Given the description of an element on the screen output the (x, y) to click on. 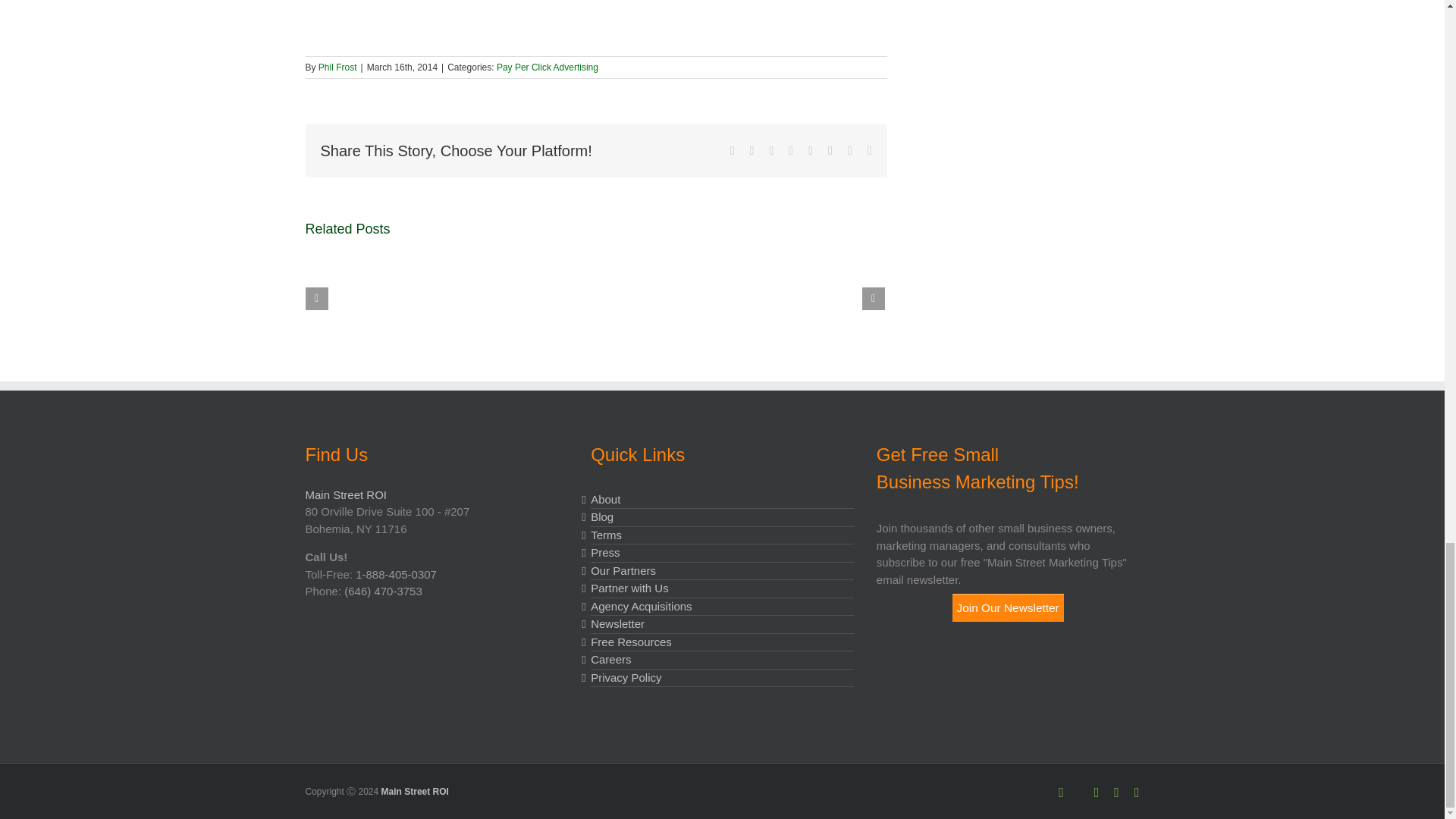
Posts by Phil Frost (337, 67)
